Given the description of an element on the screen output the (x, y) to click on. 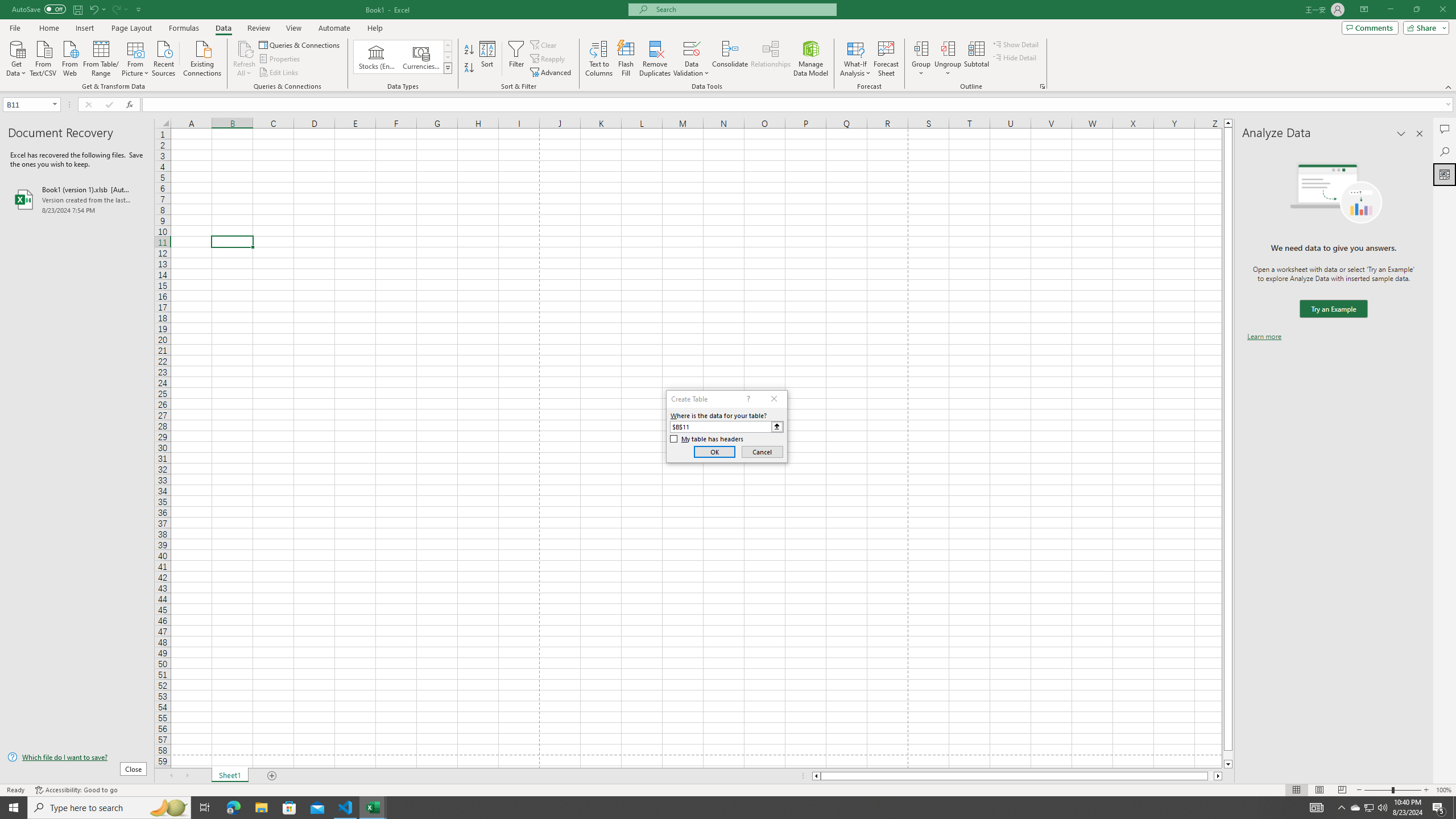
Currencies (English) (420, 56)
Advanced... (551, 72)
Queries & Connections (300, 44)
Which file do I want to save? (77, 757)
AutoSave (38, 9)
Forecast Sheet (885, 58)
Flash Fill (625, 58)
Close (1442, 9)
Show Detail (1016, 44)
Clear (544, 44)
We need data to give you answers. Try an Example (1333, 308)
Undo (96, 9)
Learn more (1264, 336)
Refresh All (244, 58)
Save (77, 9)
